Given the description of an element on the screen output the (x, y) to click on. 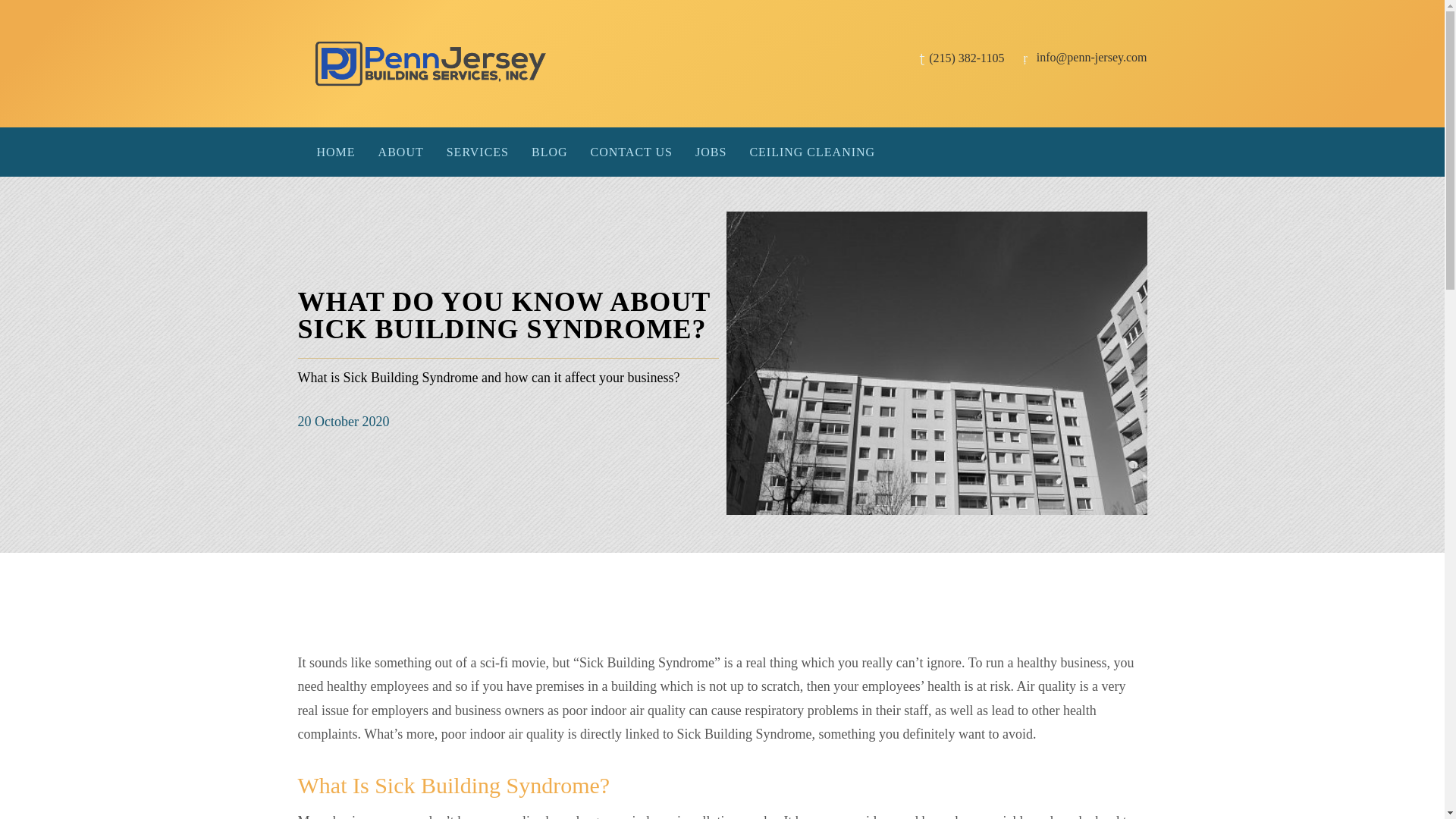
BLOG (549, 152)
JOBS (711, 152)
SERVICES (477, 152)
ABOUT (400, 152)
Commercial Ceiling Cleaning (812, 152)
Cleaning Jobs Philadelphia (711, 152)
CONTACT US (631, 152)
HOME (335, 152)
CEILING CLEANING (812, 152)
Contact Us (631, 152)
About (400, 152)
Building Services (477, 152)
Home (335, 152)
Blog (549, 152)
